Given the description of an element on the screen output the (x, y) to click on. 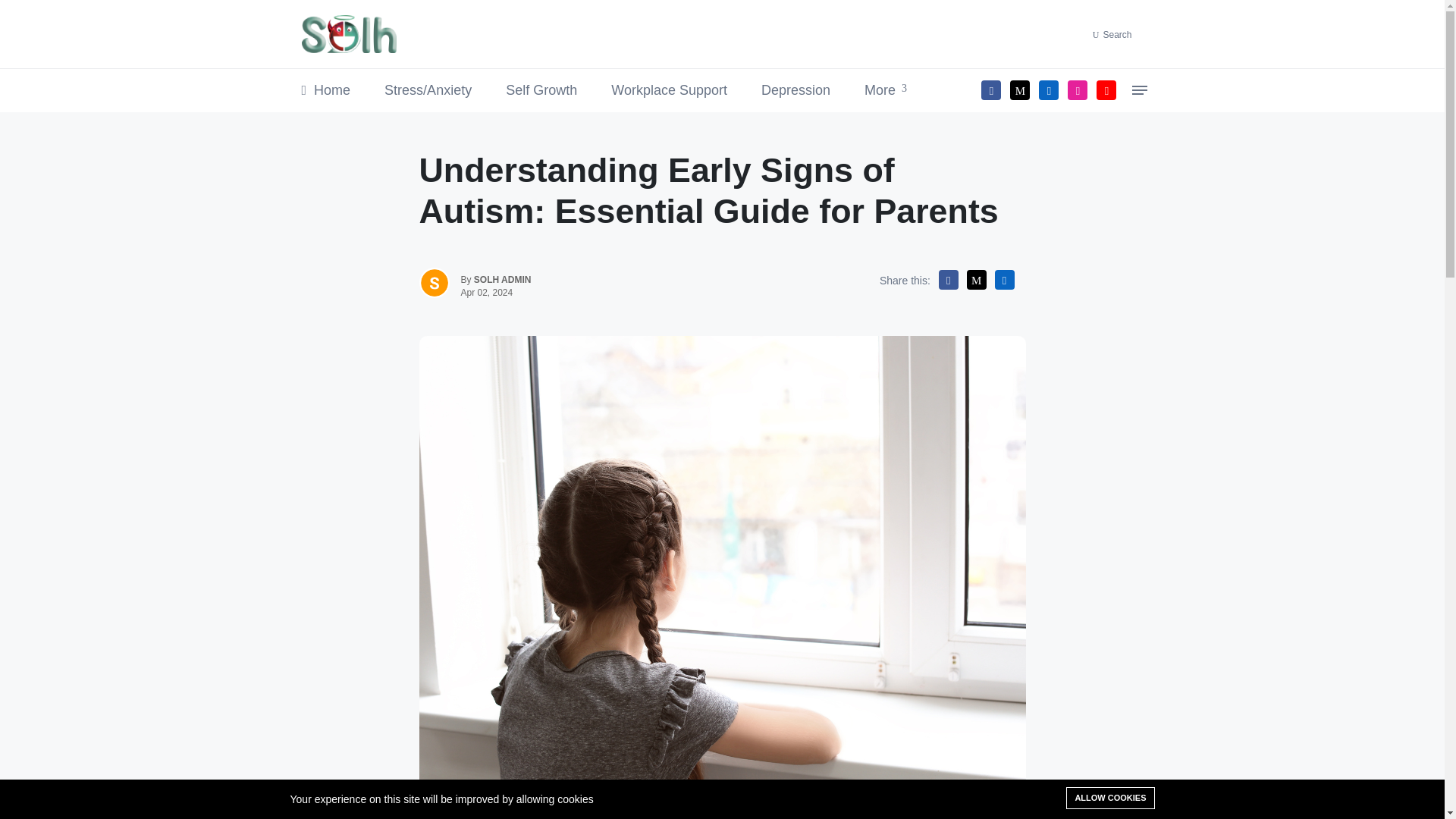
Search (1117, 33)
X (1019, 89)
Home (325, 90)
More (885, 90)
Self Growth (540, 90)
Depression (795, 90)
Instagram (1077, 89)
Youtube (1106, 89)
Workplace Support (668, 90)
Facebook (991, 89)
Linkedin (1048, 89)
